Given the description of an element on the screen output the (x, y) to click on. 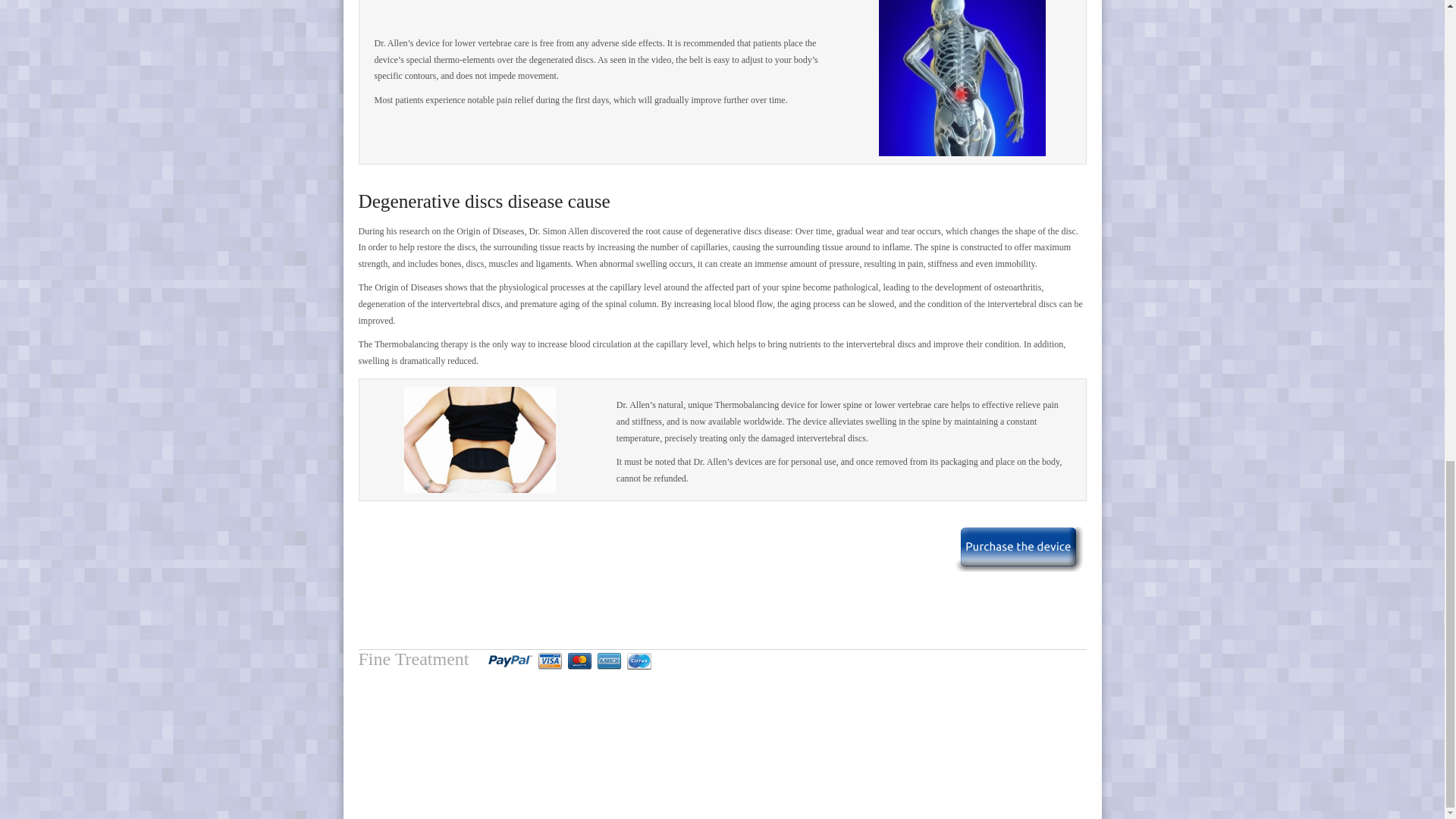
Lower spine (962, 78)
lower-vertebrae-treatment (480, 439)
Lower spine (962, 81)
